Given the description of an element on the screen output the (x, y) to click on. 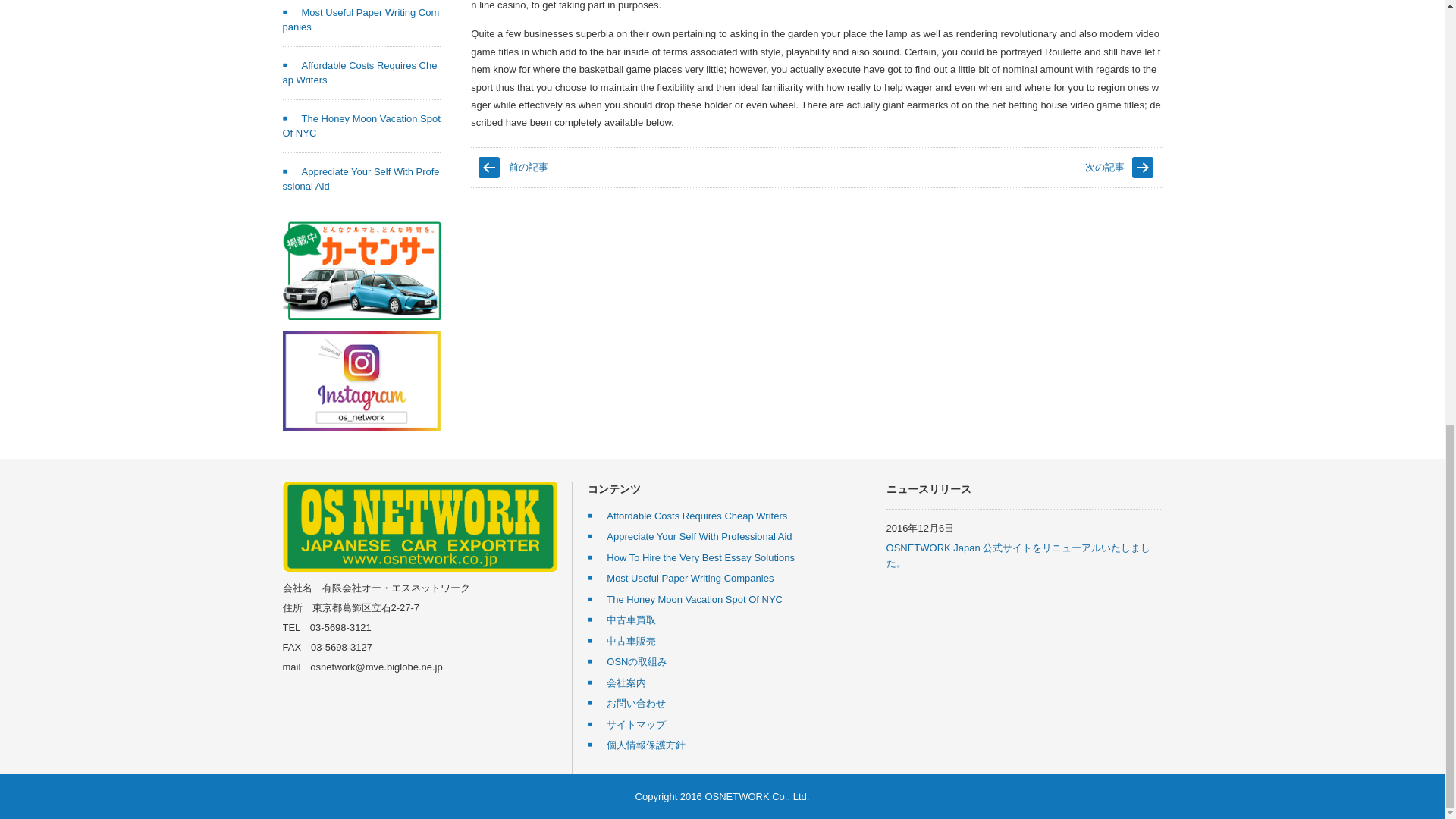
Most Useful Paper Writing Companies (360, 19)
The Honey Moon Vacation Spot Of NYC (360, 126)
Affordable Costs Requires Cheap Writers (359, 72)
Appreciate Your Self With Professional Aid (360, 179)
Affordable Costs Requires Cheap Writers (687, 515)
